Given the description of an element on the screen output the (x, y) to click on. 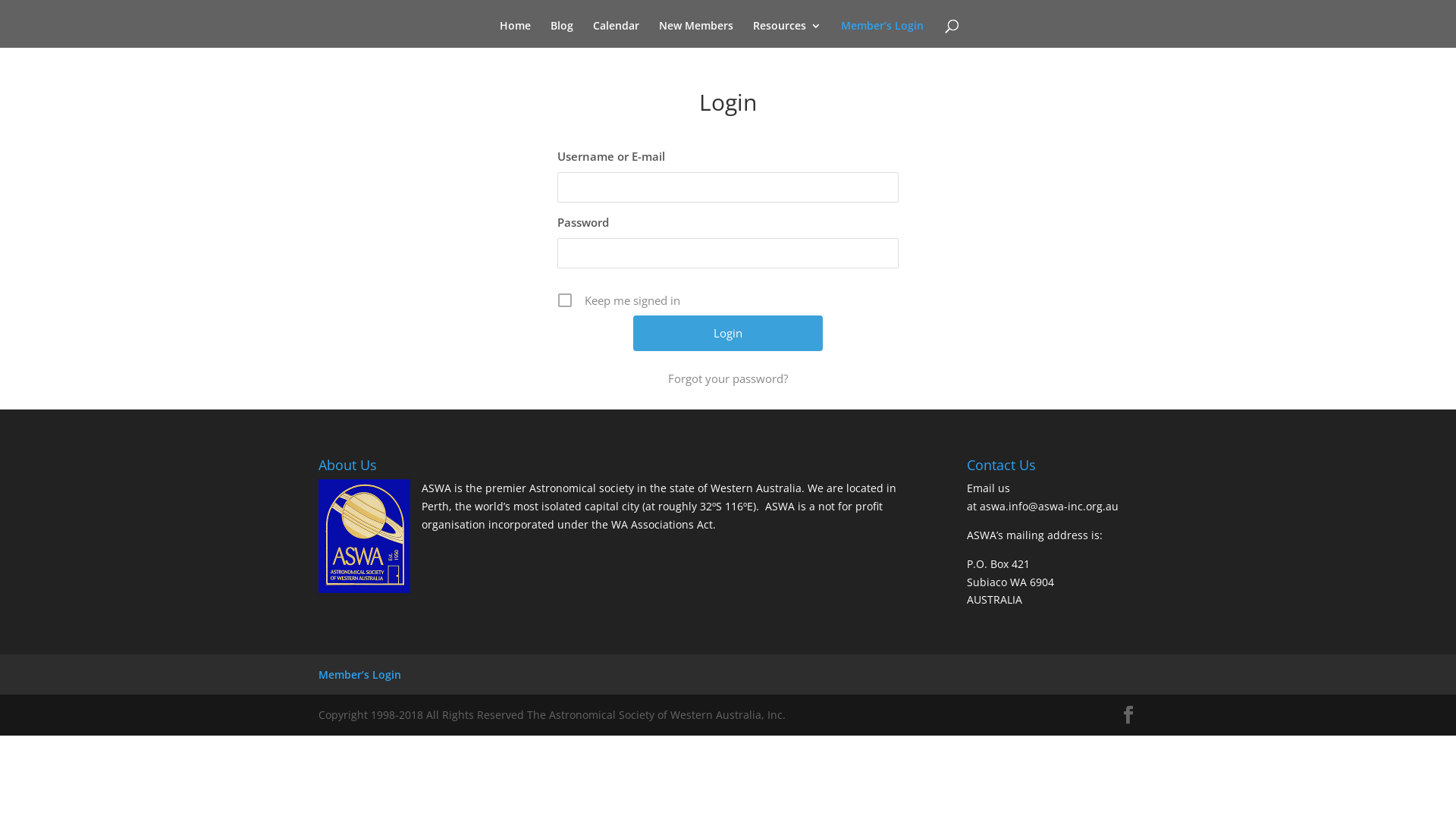
aswa.info@aswa-inc.org.au Element type: text (1048, 505)
Blog Element type: text (561, 33)
Login Element type: text (727, 333)
Home Element type: text (514, 33)
Forgot your password? Element type: text (727, 378)
New Members Element type: text (695, 33)
Resources Element type: text (786, 33)
Calendar Element type: text (616, 33)
